Given the description of an element on the screen output the (x, y) to click on. 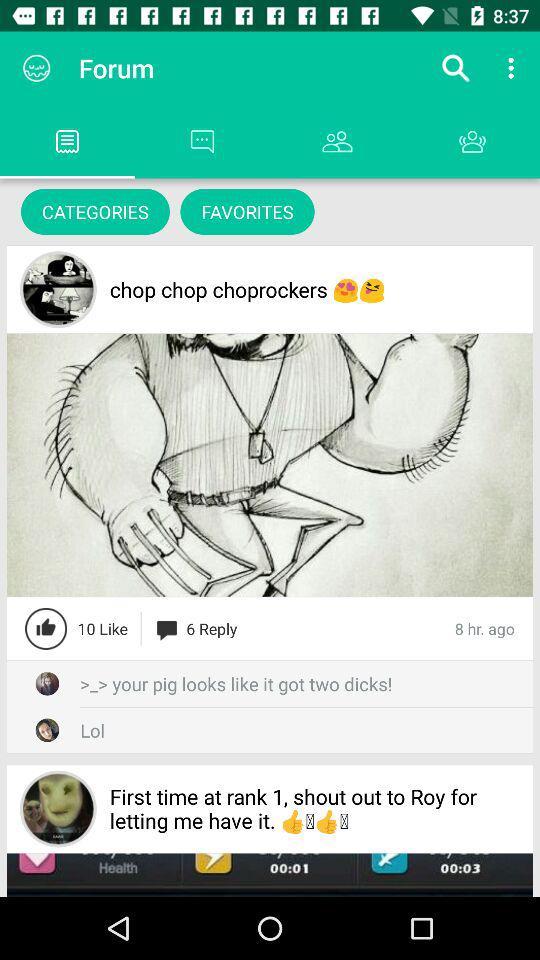
press app next to forum item (36, 68)
